Given the description of an element on the screen output the (x, y) to click on. 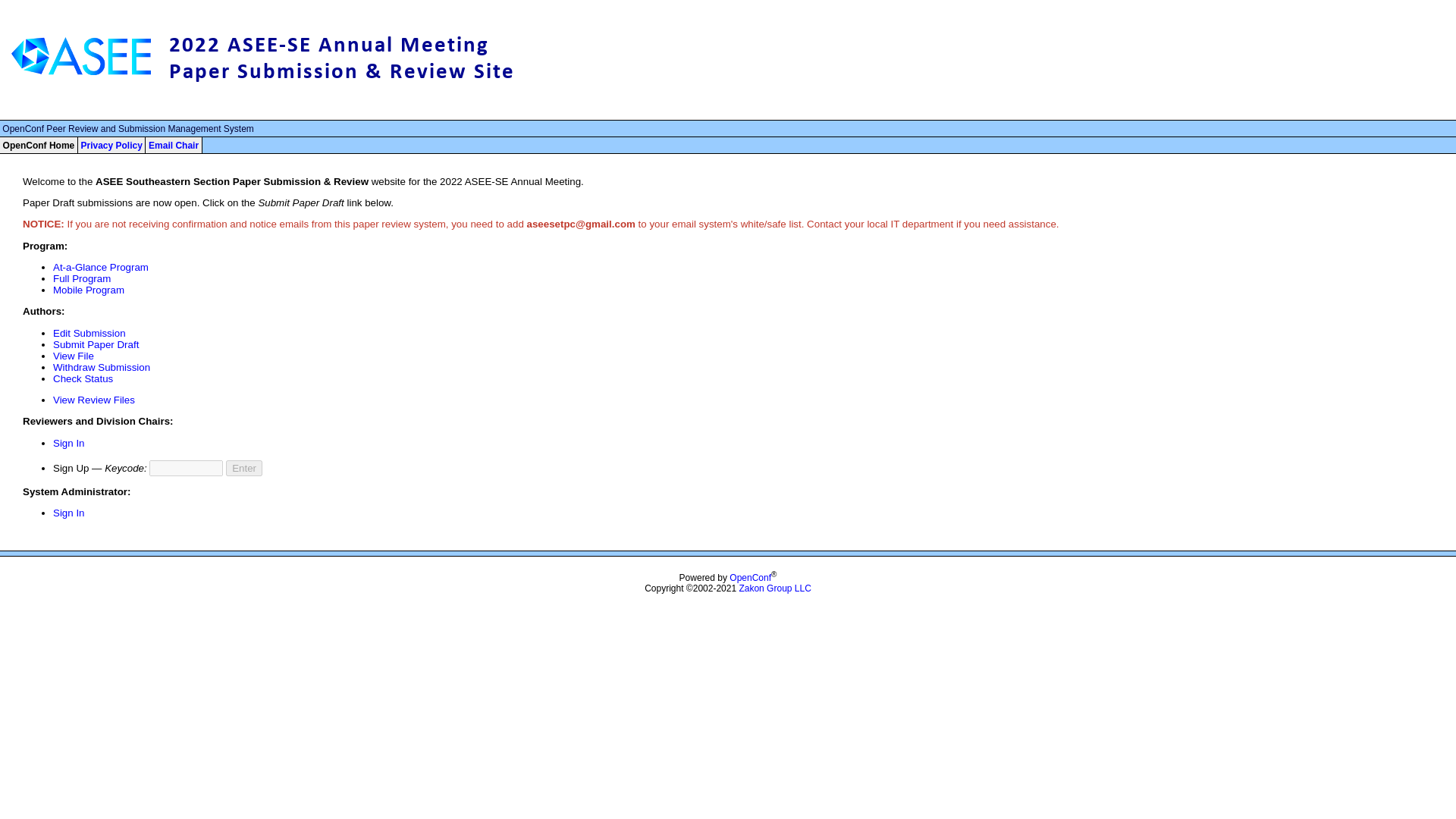
Edit Submission (88, 333)
Enter (243, 467)
Mobile Program (87, 289)
Privacy Policy (110, 145)
View File (73, 355)
At-a-Glance Program (100, 266)
OpenConf (750, 577)
Check Status (82, 378)
Email Chair (173, 145)
Submit Paper Draft (95, 344)
Enter (243, 467)
Withdraw Submission (100, 367)
View Review Files (93, 399)
Full Program (81, 278)
Sign In (68, 512)
